Given the description of an element on the screen output the (x, y) to click on. 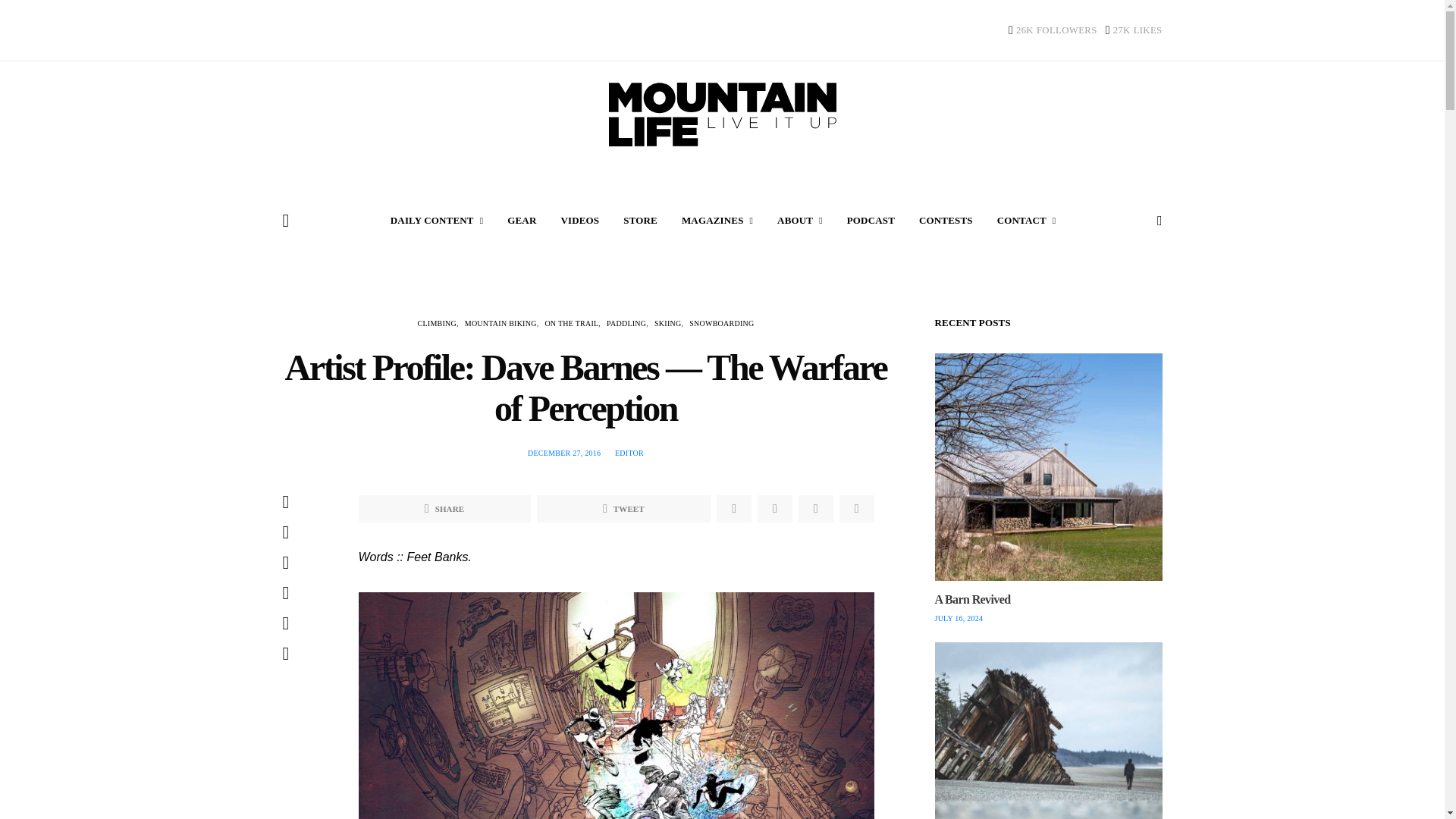
View all posts by Editor (628, 452)
